Given the description of an element on the screen output the (x, y) to click on. 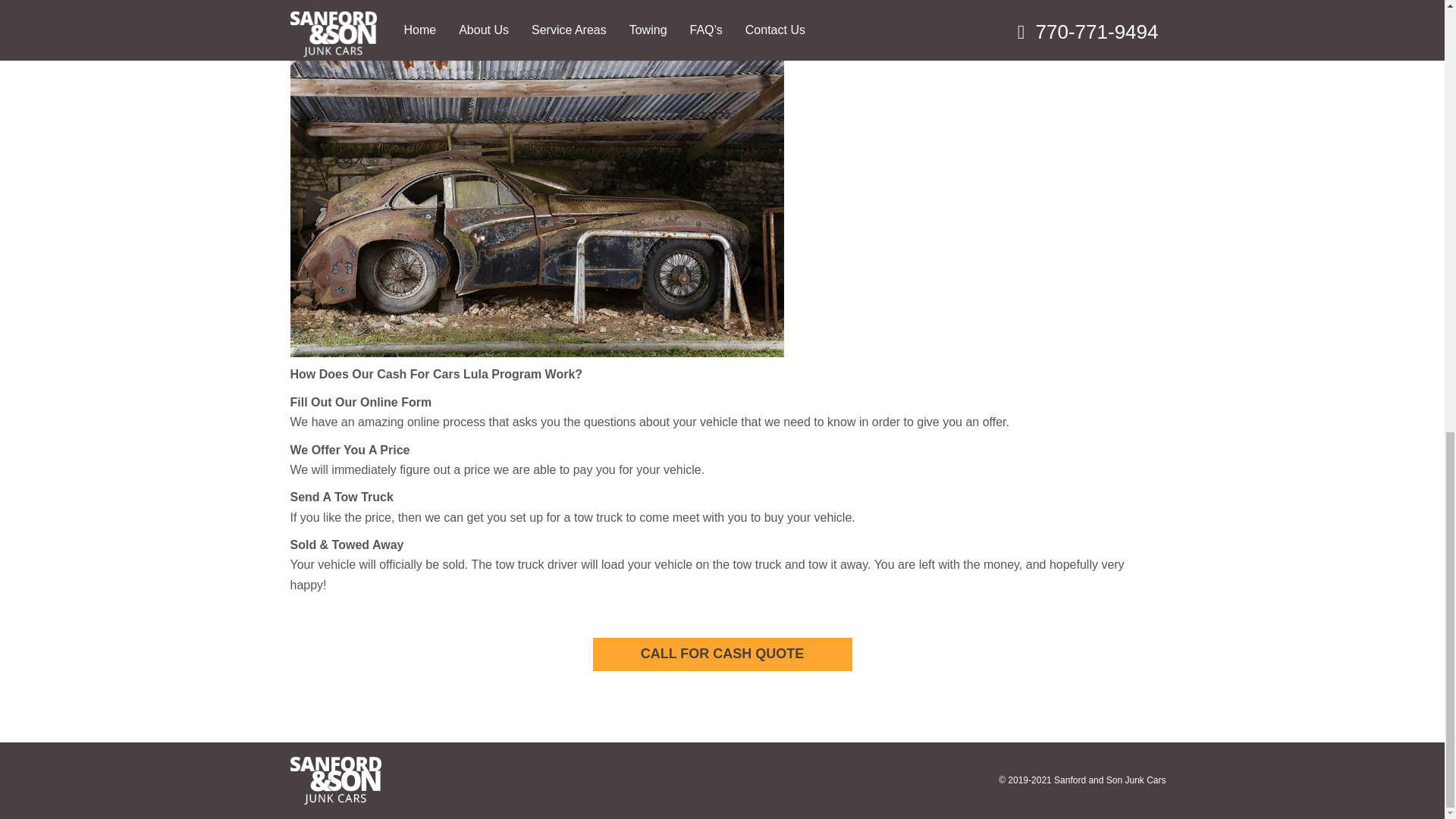
CALL FOR CASH QUOTE (721, 653)
CALL FOR CASH QUOTE (721, 654)
